Given the description of an element on the screen output the (x, y) to click on. 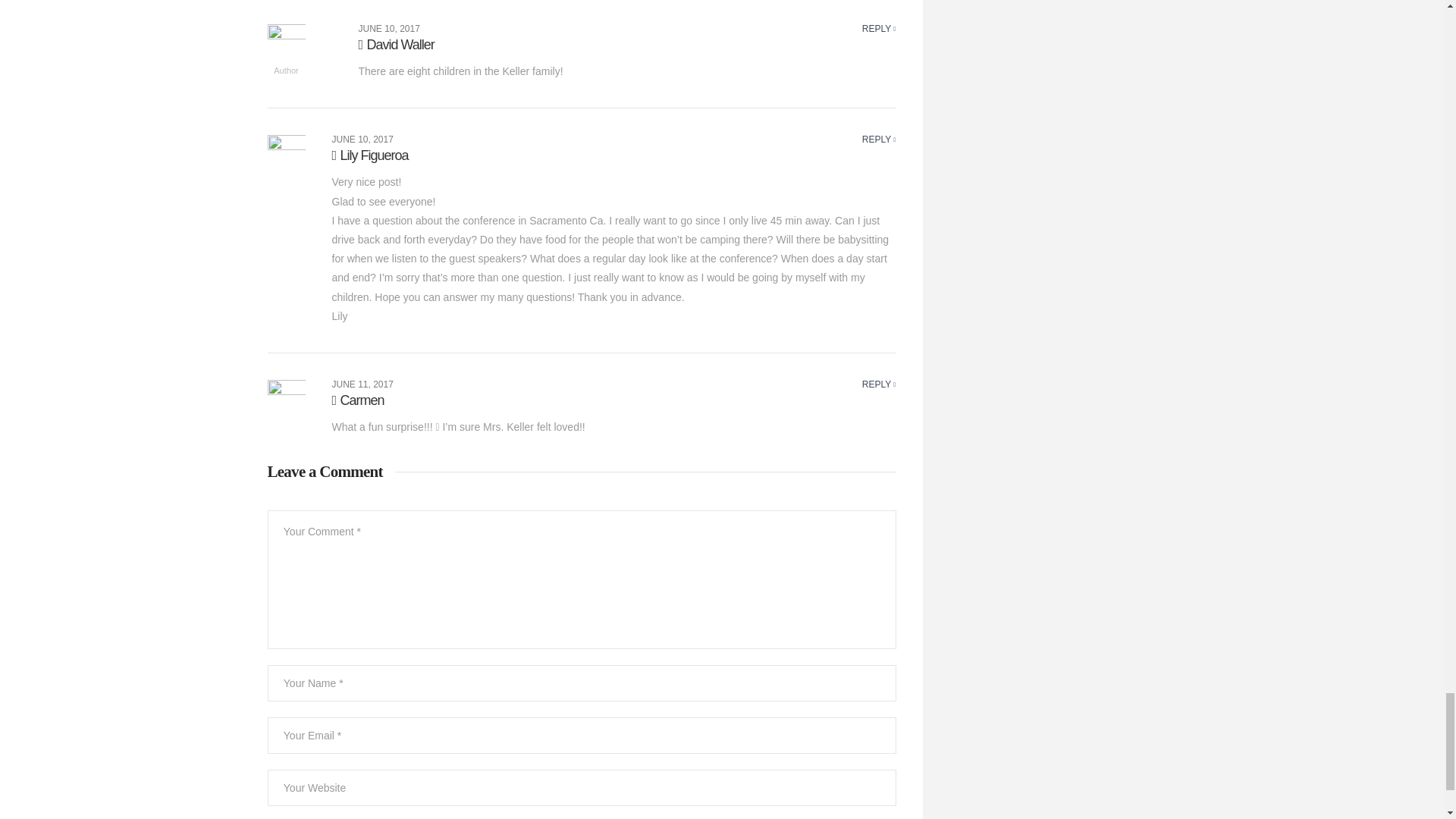
REPLY (878, 28)
REPLY (878, 139)
JUNE 10, 2017 (388, 28)
JUNE 10, 2017 (362, 139)
